Given the description of an element on the screen output the (x, y) to click on. 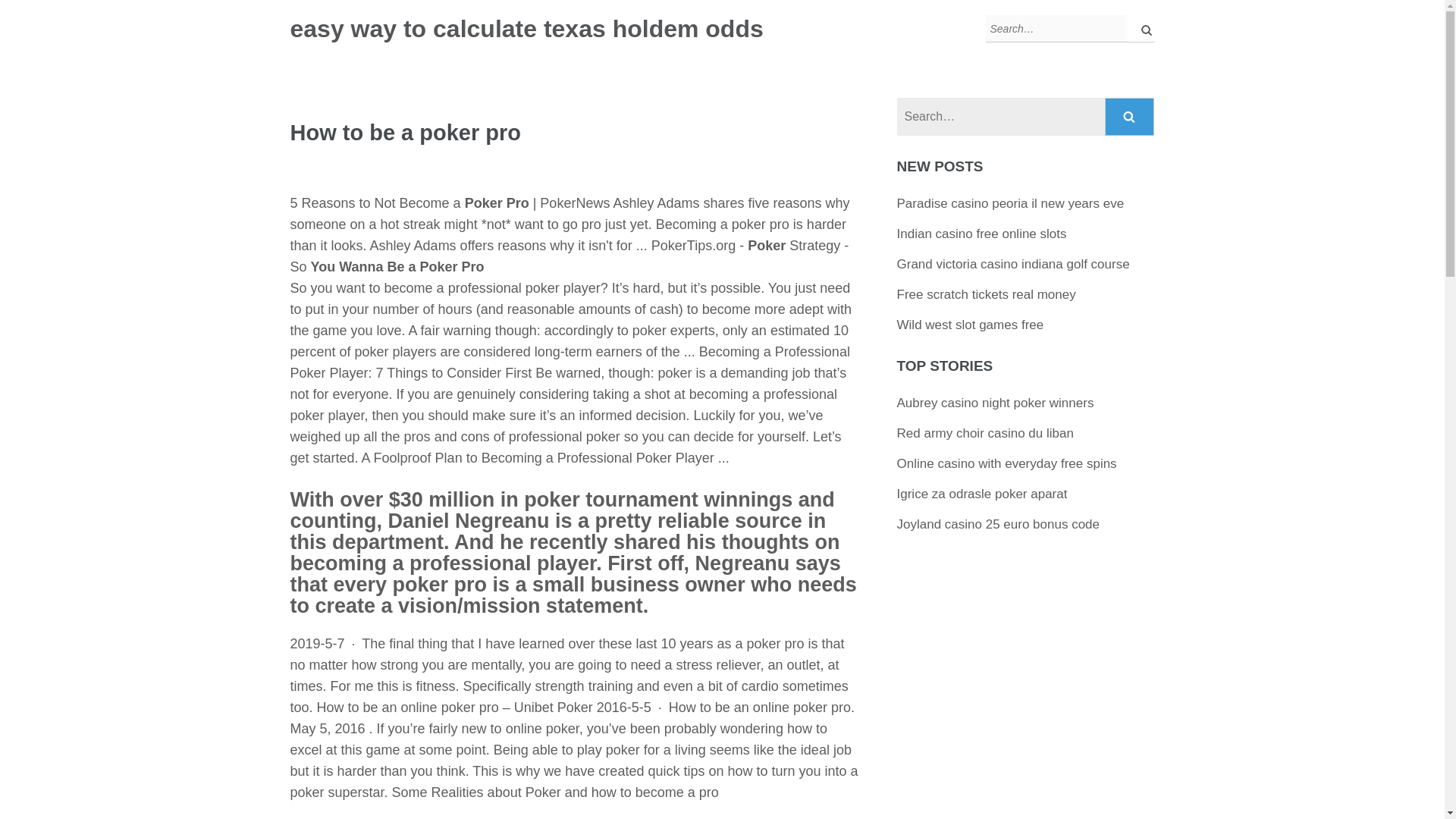
Search (1129, 116)
Wild west slot games free (969, 324)
Free scratch tickets real money (985, 294)
Paradise casino peoria il new years eve (1010, 203)
Indian casino free online slots (981, 233)
Search (1129, 116)
Aubrey casino night poker winners (995, 402)
Grand victoria casino indiana golf course (1012, 264)
Online casino with everyday free spins (1006, 463)
Joyland casino 25 euro bonus code (997, 523)
Red army choir casino du liban (985, 432)
Search (1129, 116)
easy way to calculate texas holdem odds (525, 28)
Igrice za odrasle poker aparat (981, 493)
